Given the description of an element on the screen output the (x, y) to click on. 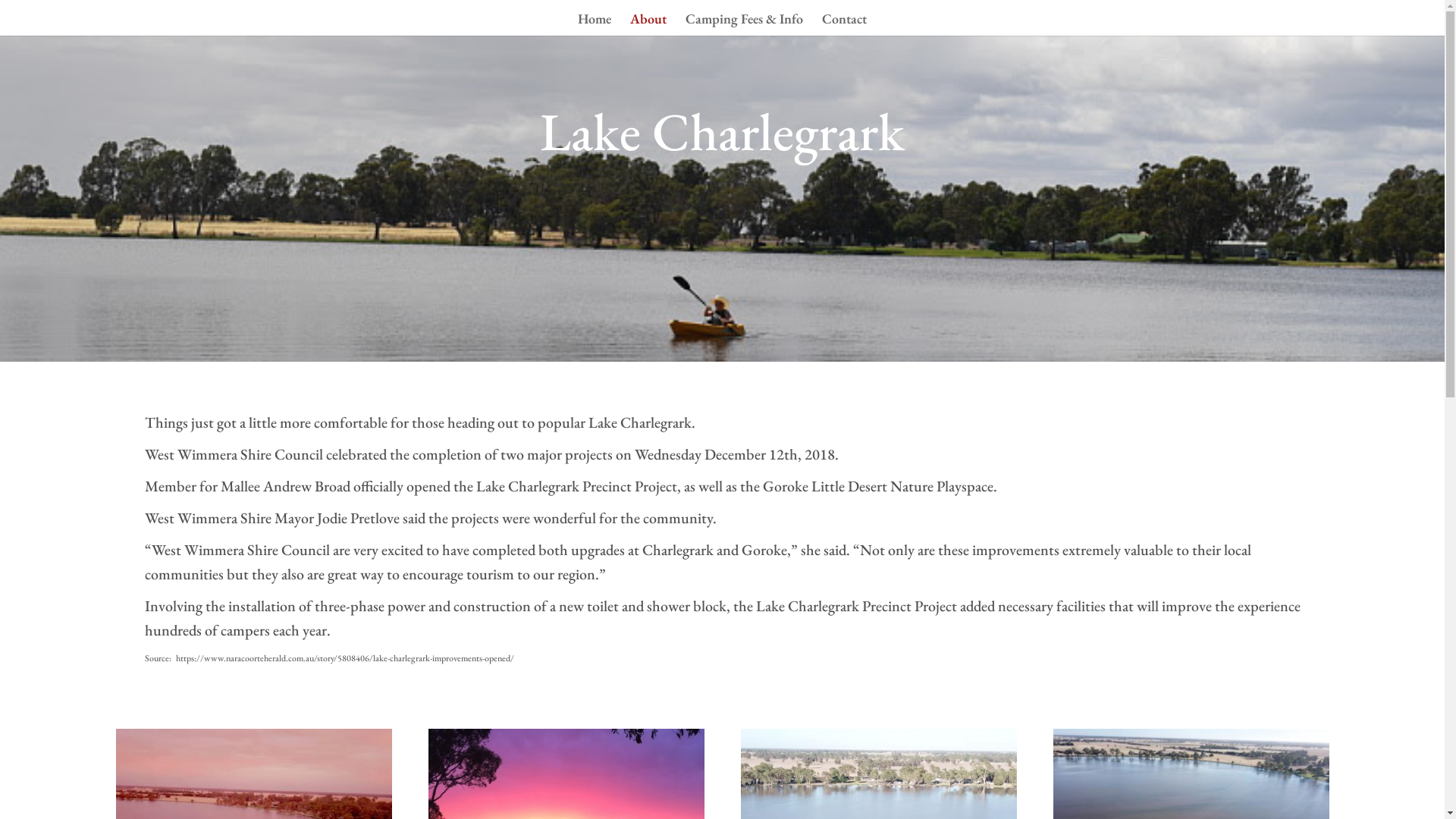
About Element type: text (648, 24)
Contact Element type: text (844, 24)
Home Element type: text (594, 24)
Camping Fees & Info Element type: text (744, 24)
